Given the description of an element on the screen output the (x, y) to click on. 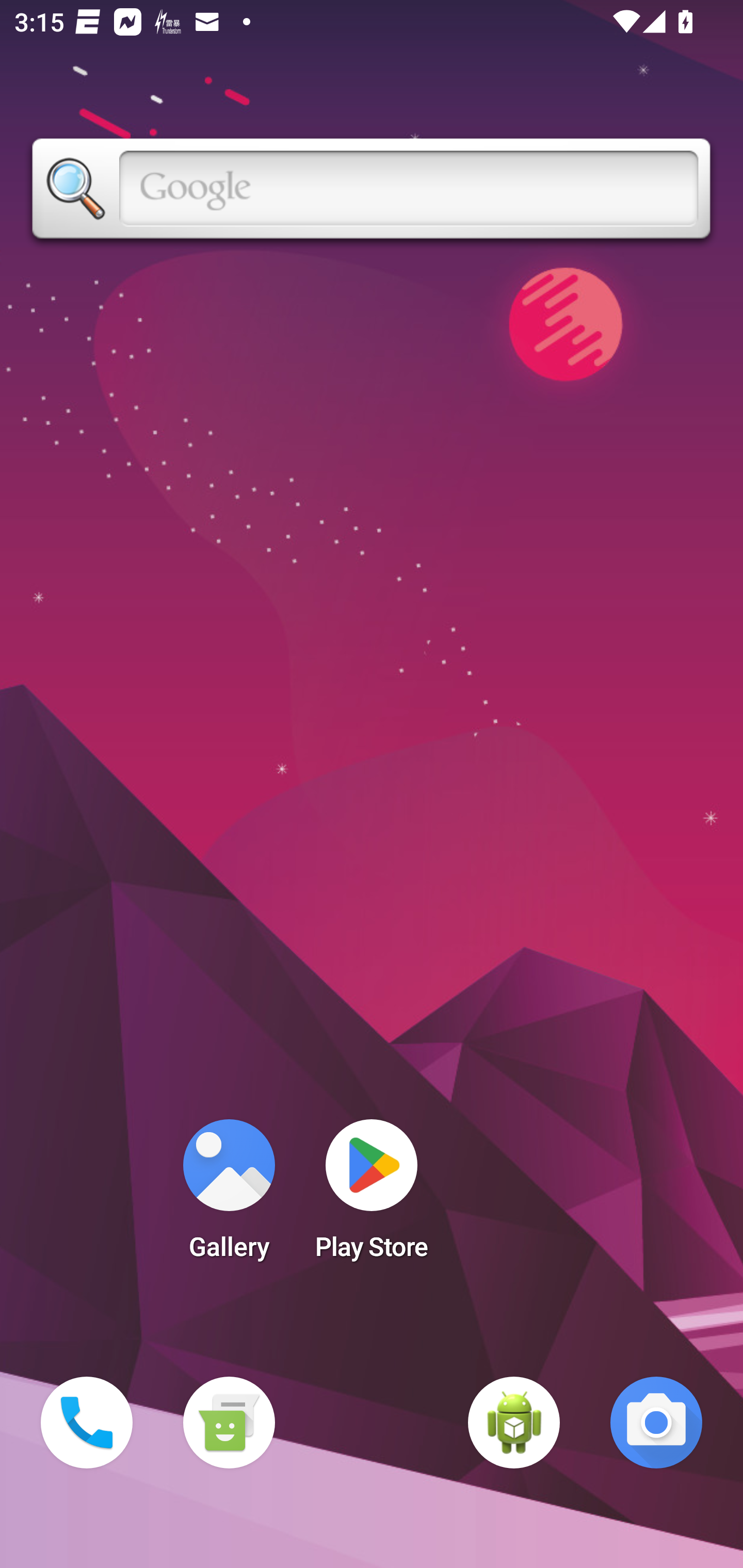
Gallery (228, 1195)
Play Store (371, 1195)
Phone (86, 1422)
Messaging (228, 1422)
WebView Browser Tester (513, 1422)
Camera (656, 1422)
